Given the description of an element on the screen output the (x, y) to click on. 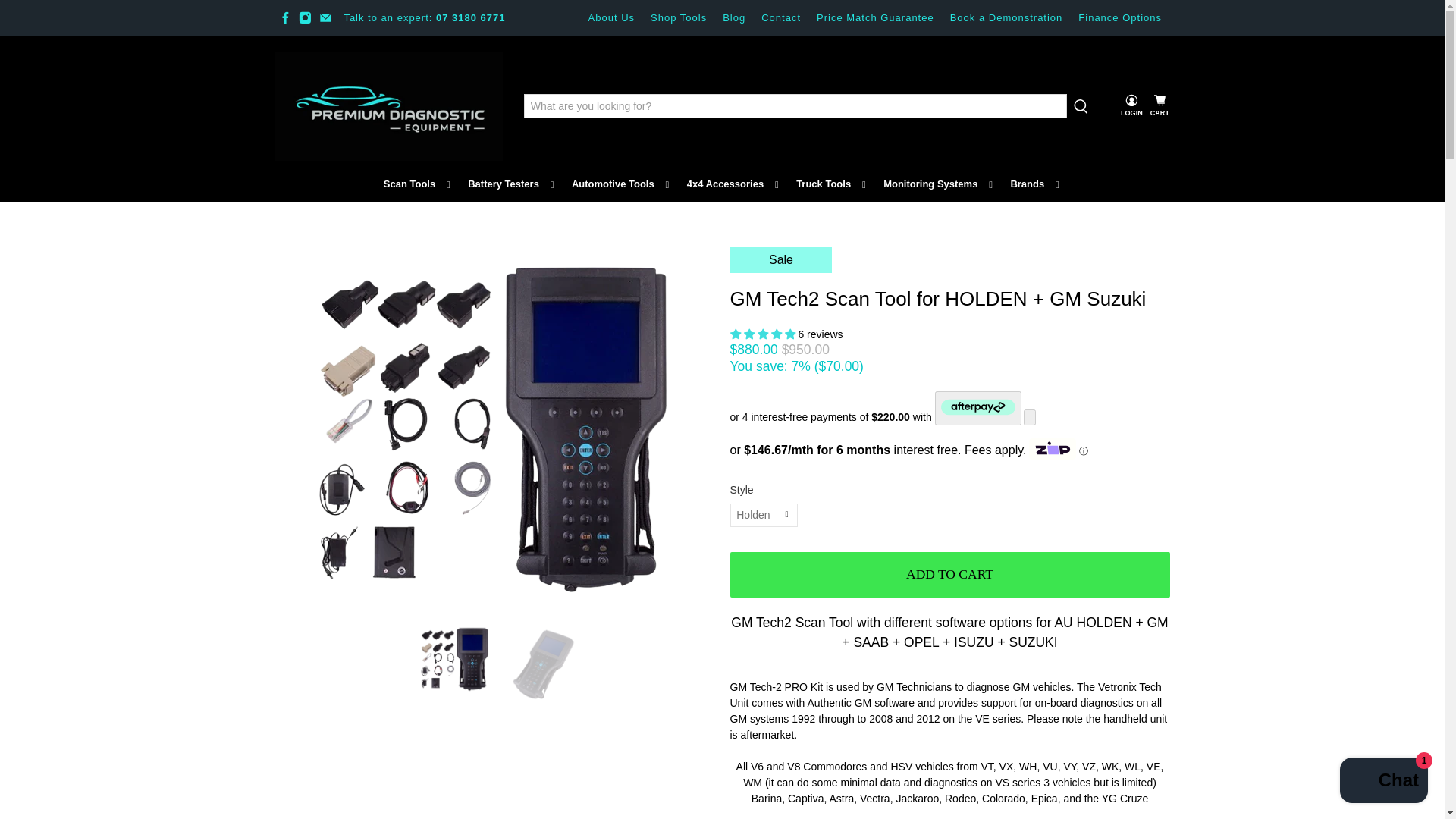
Premium Diagnostic Equipment on Facebook (285, 17)
Blog (734, 18)
Email Premium Diagnostic Equipment (324, 17)
About Us (610, 18)
Contact (781, 18)
Premium Diagnostic Equipment (388, 105)
Finance Options (1120, 18)
Book a Demonstration (1006, 18)
Talk to an expert: 07 3180 6771 (424, 17)
Scan Tools (417, 184)
Shop Tools (678, 18)
Shopify online store chat (1383, 781)
Price Match Guarantee (875, 18)
Premium Diagnostic Equipment on Instagram (304, 17)
